Given the description of an element on the screen output the (x, y) to click on. 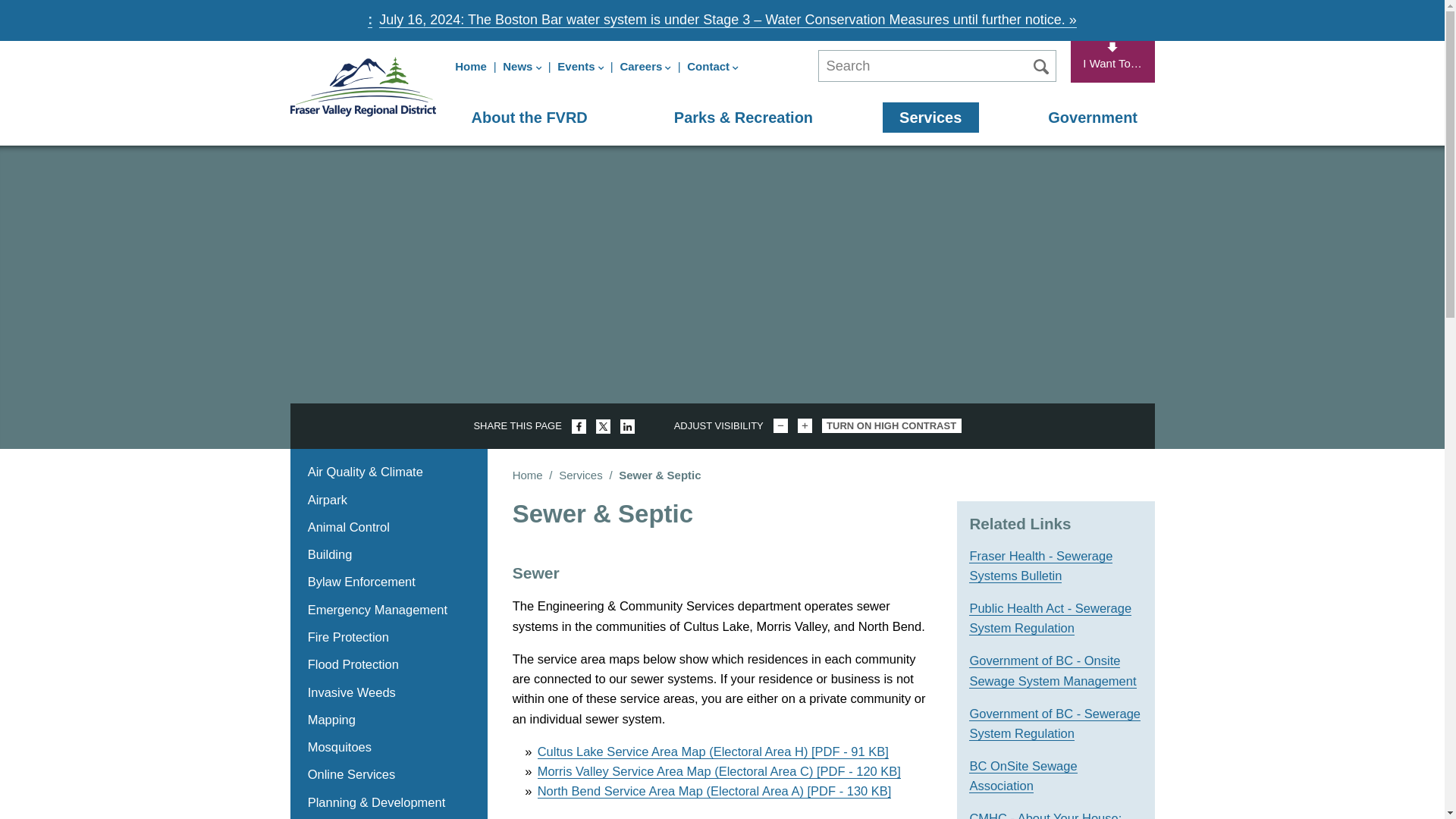
Fraser Health - Sewerage Systems Bulletin (1040, 565)
Government of BC - Sewerage System Regulation (1054, 723)
Public Health Act - Sewerage System Regulation (1050, 618)
Fraser Valley Regional District (362, 85)
Government of BC - Onsite Sewage System Management (1052, 670)
About the FVRD (529, 117)
Home (362, 85)
